Given the description of an element on the screen output the (x, y) to click on. 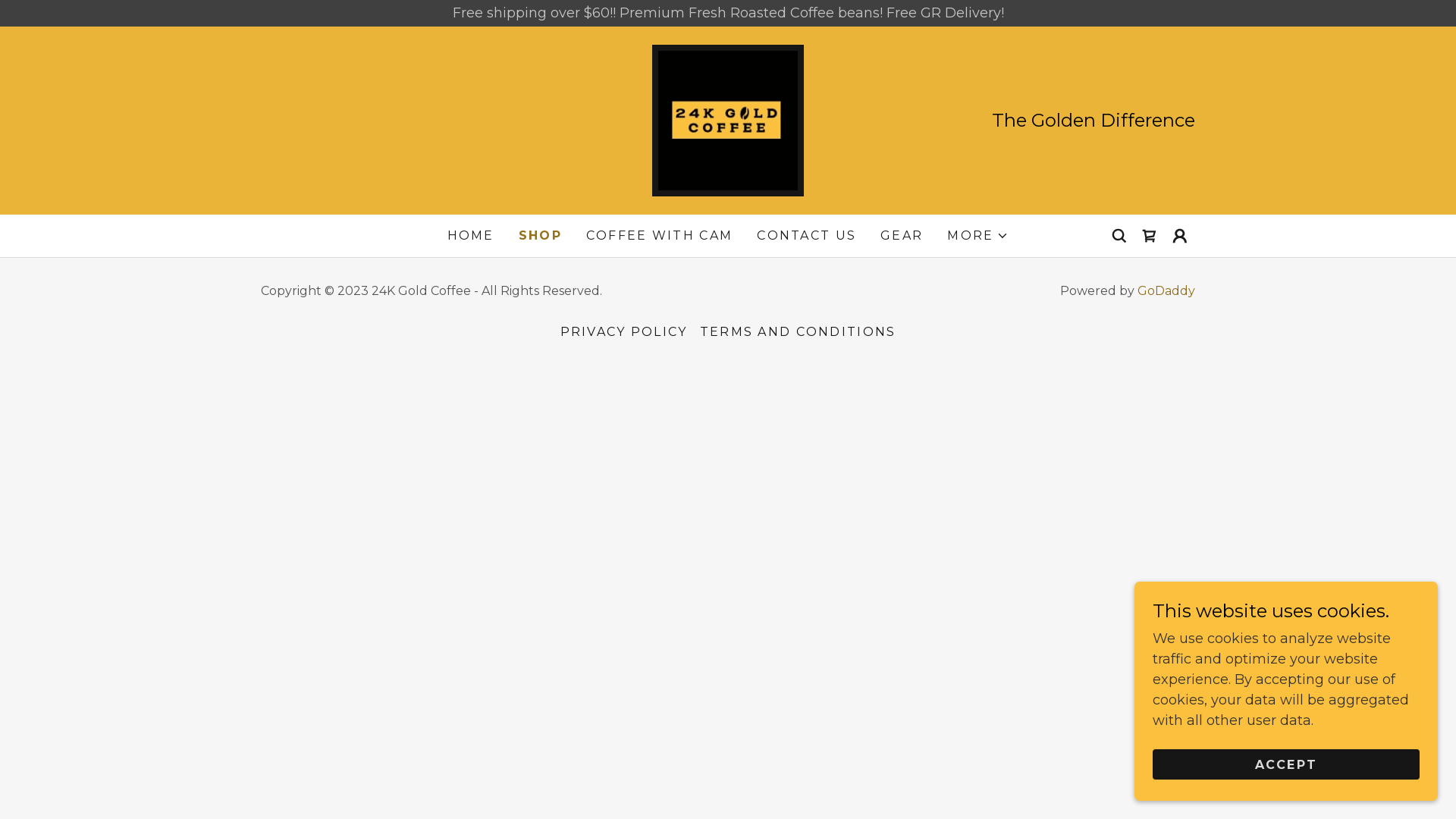
COFFEE WITH CAM Element type: text (659, 235)
PRIVACY POLICY Element type: text (623, 331)
GEAR Element type: text (901, 235)
ACCEPT Element type: text (1285, 764)
CONTACT US Element type: text (806, 235)
TERMS AND CONDITIONS Element type: text (797, 331)
GoDaddy Element type: text (1166, 290)
24K Gold Coffee Element type: hover (727, 119)
HOME Element type: text (470, 235)
MORE Element type: text (977, 235)
SHOP Element type: text (539, 235)
